Given the description of an element on the screen output the (x, y) to click on. 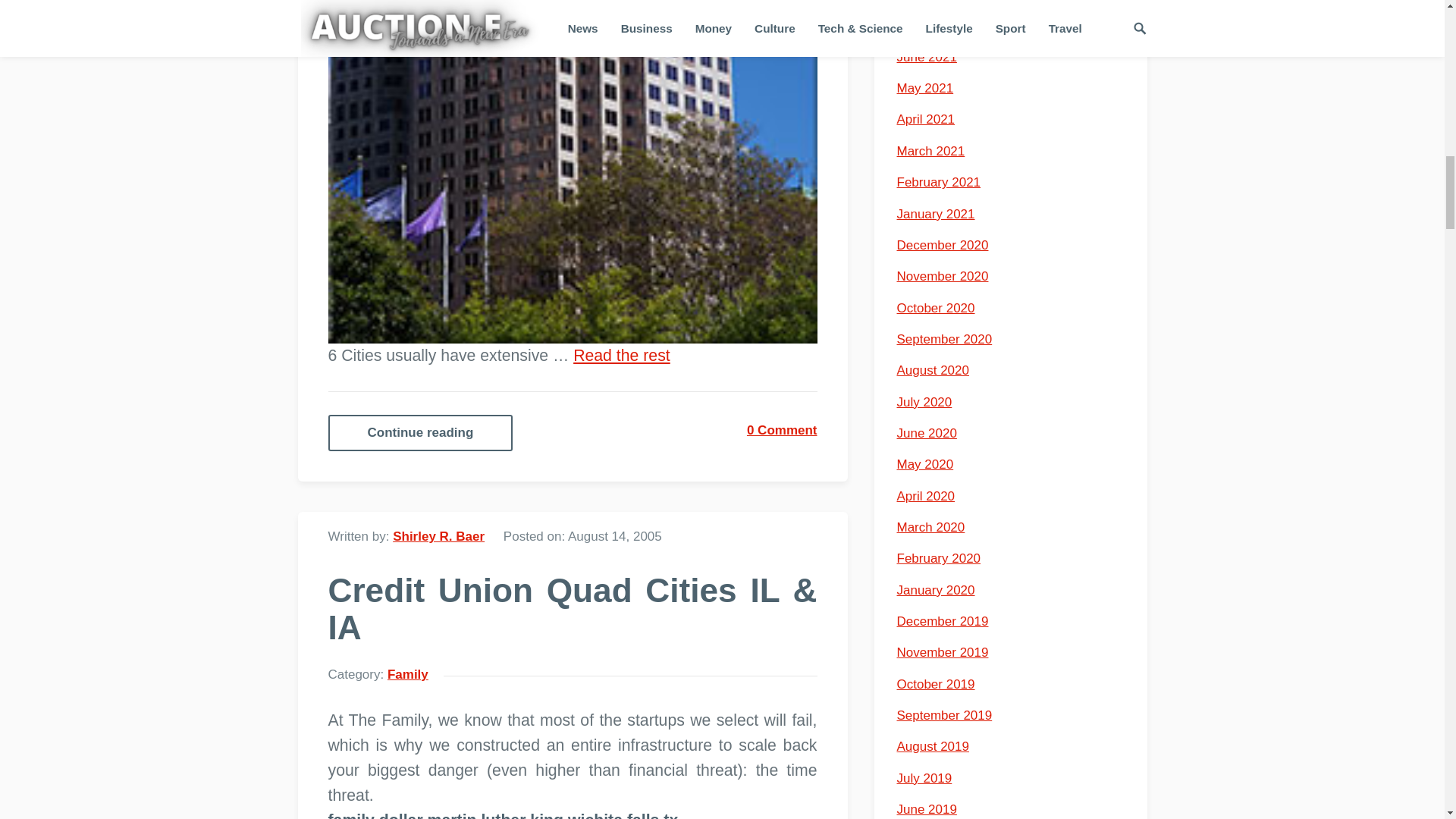
View all posts in Family (407, 674)
Posts by Shirley R. Baer (438, 536)
